Given the description of an element on the screen output the (x, y) to click on. 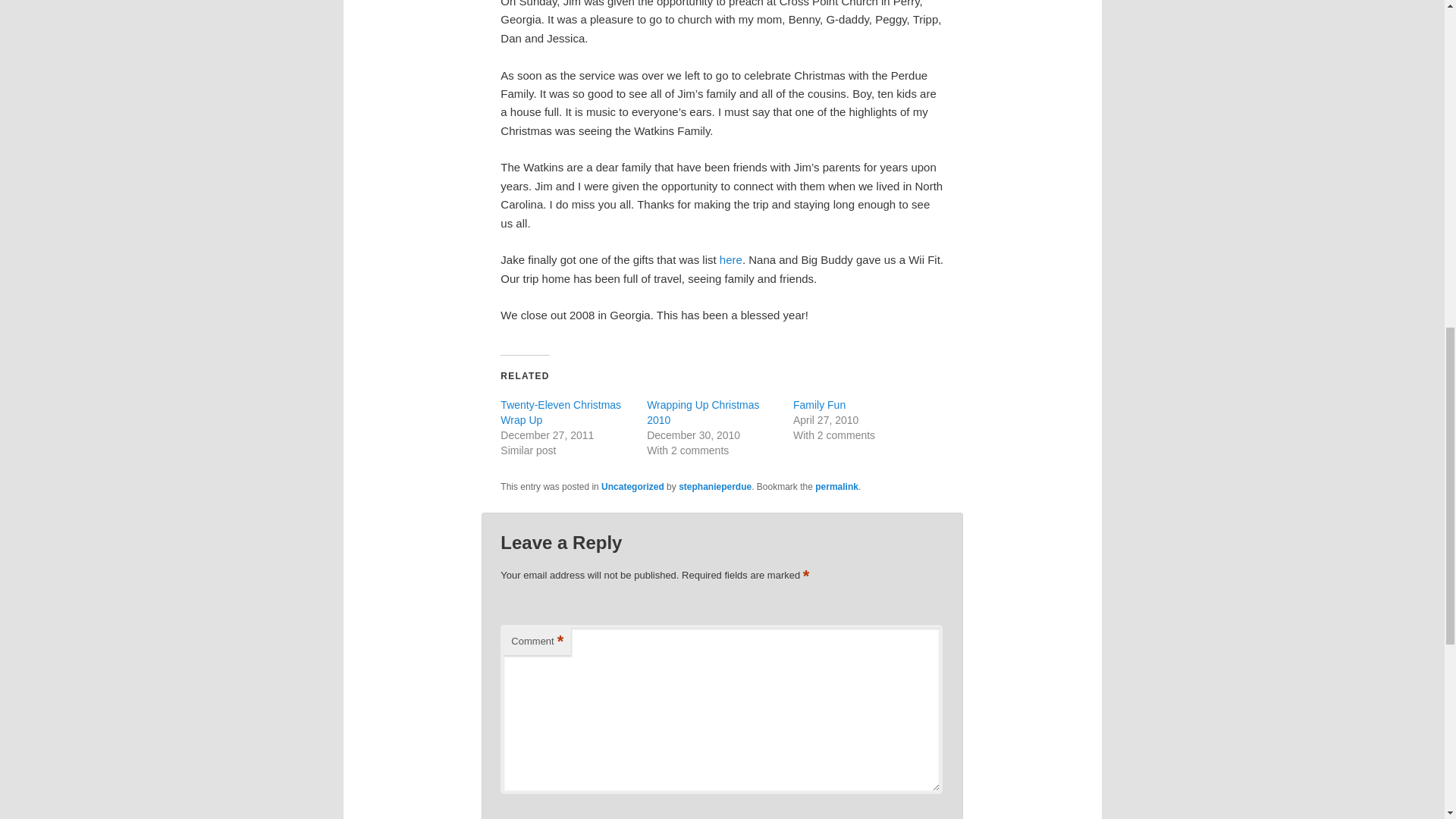
Permalink to Christmas Weekend 2008 (837, 486)
Family Fun (819, 404)
here (730, 259)
permalink (837, 486)
Wrapping Up Christmas 2010 (702, 411)
Twenty-Eleven Christmas Wrap Up (560, 411)
stephanieperdue (714, 486)
Uncategorized (632, 486)
Wrapping Up Christmas 2010 (702, 411)
Family Fun (819, 404)
Twenty-Eleven Christmas Wrap Up (560, 411)
